Given the description of an element on the screen output the (x, y) to click on. 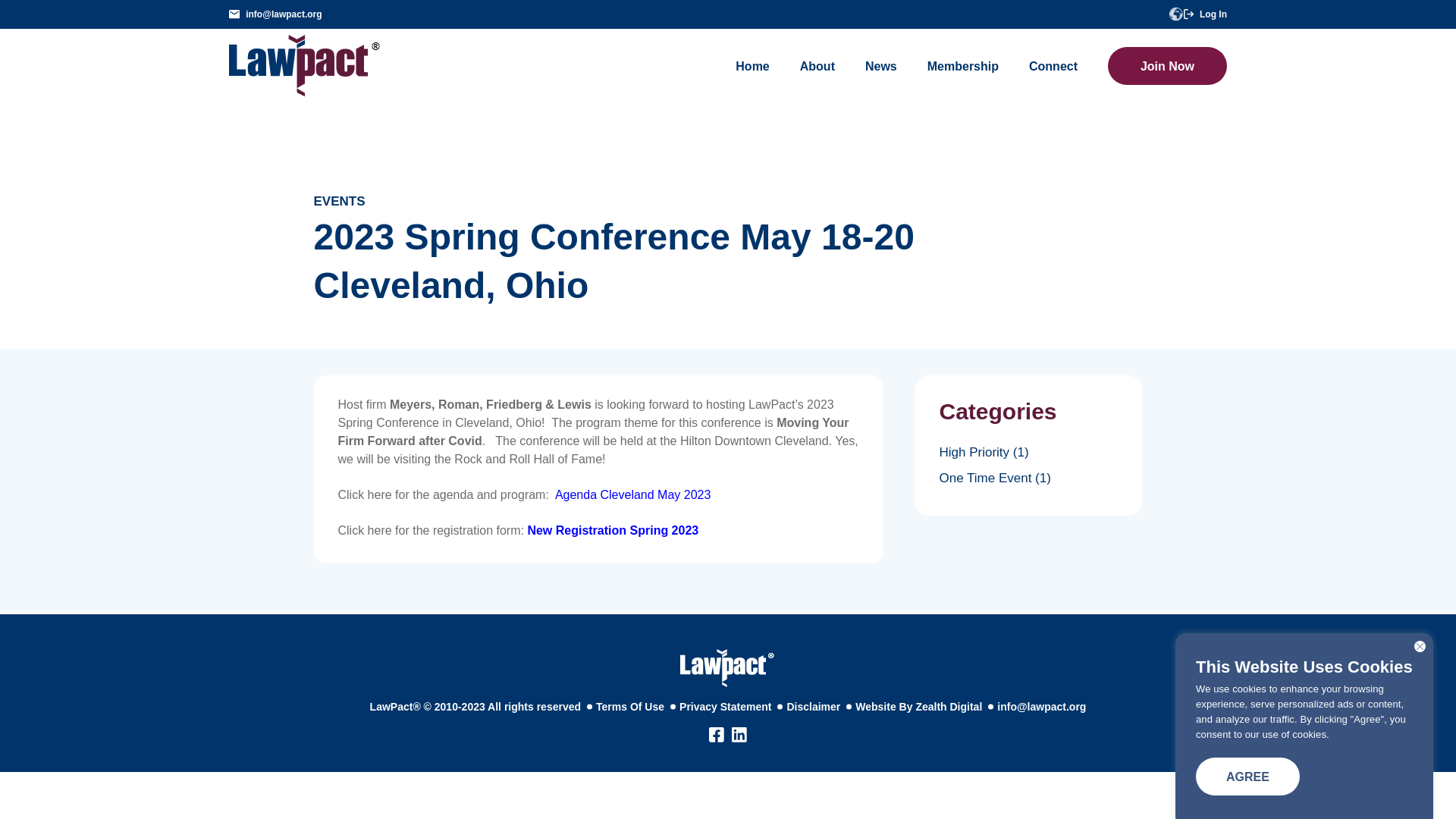
Home (751, 65)
Log In (1205, 14)
About (816, 65)
